Given the description of an element on the screen output the (x, y) to click on. 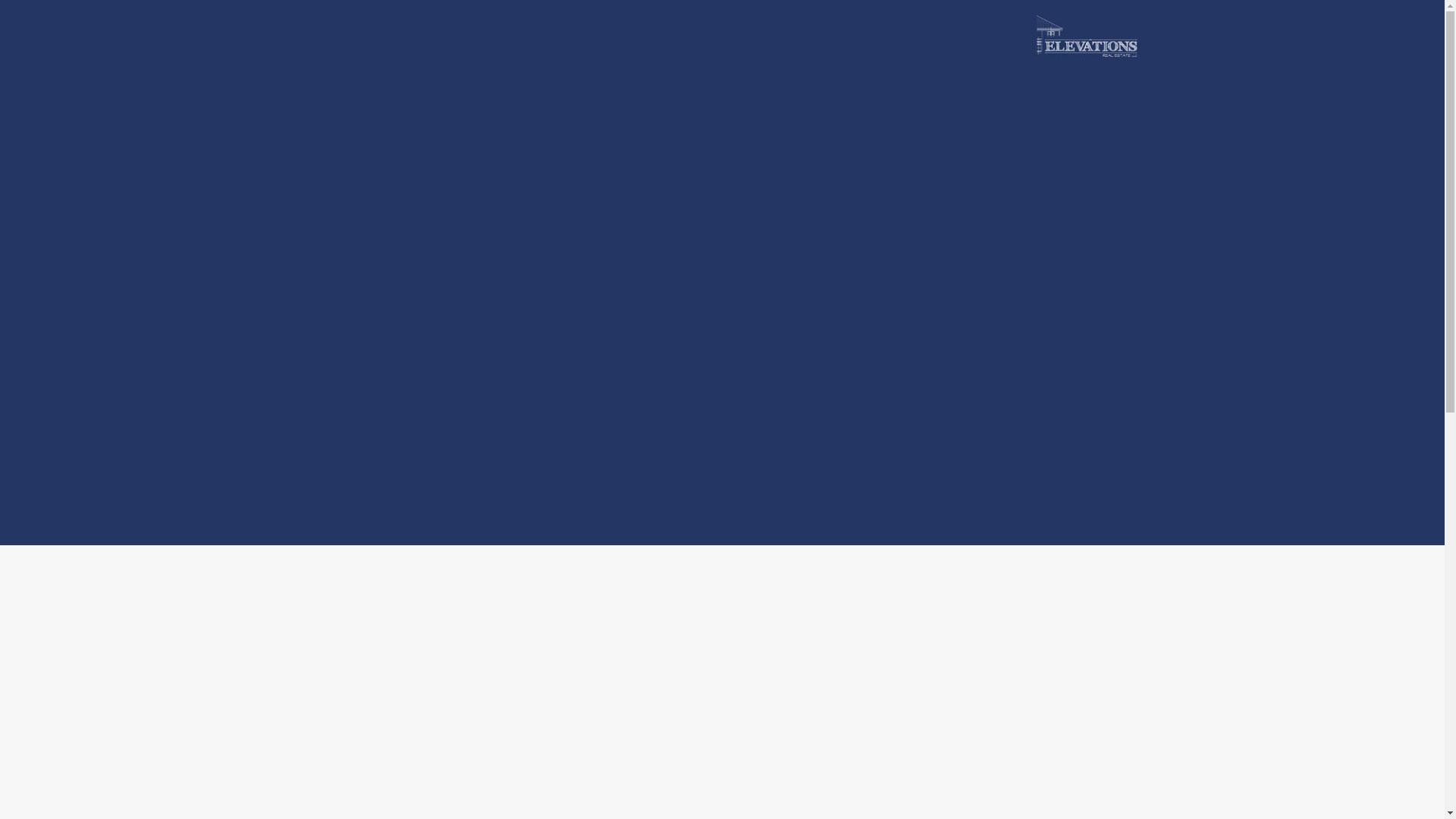
The Craft Broker (1085, 36)
